Given the description of an element on the screen output the (x, y) to click on. 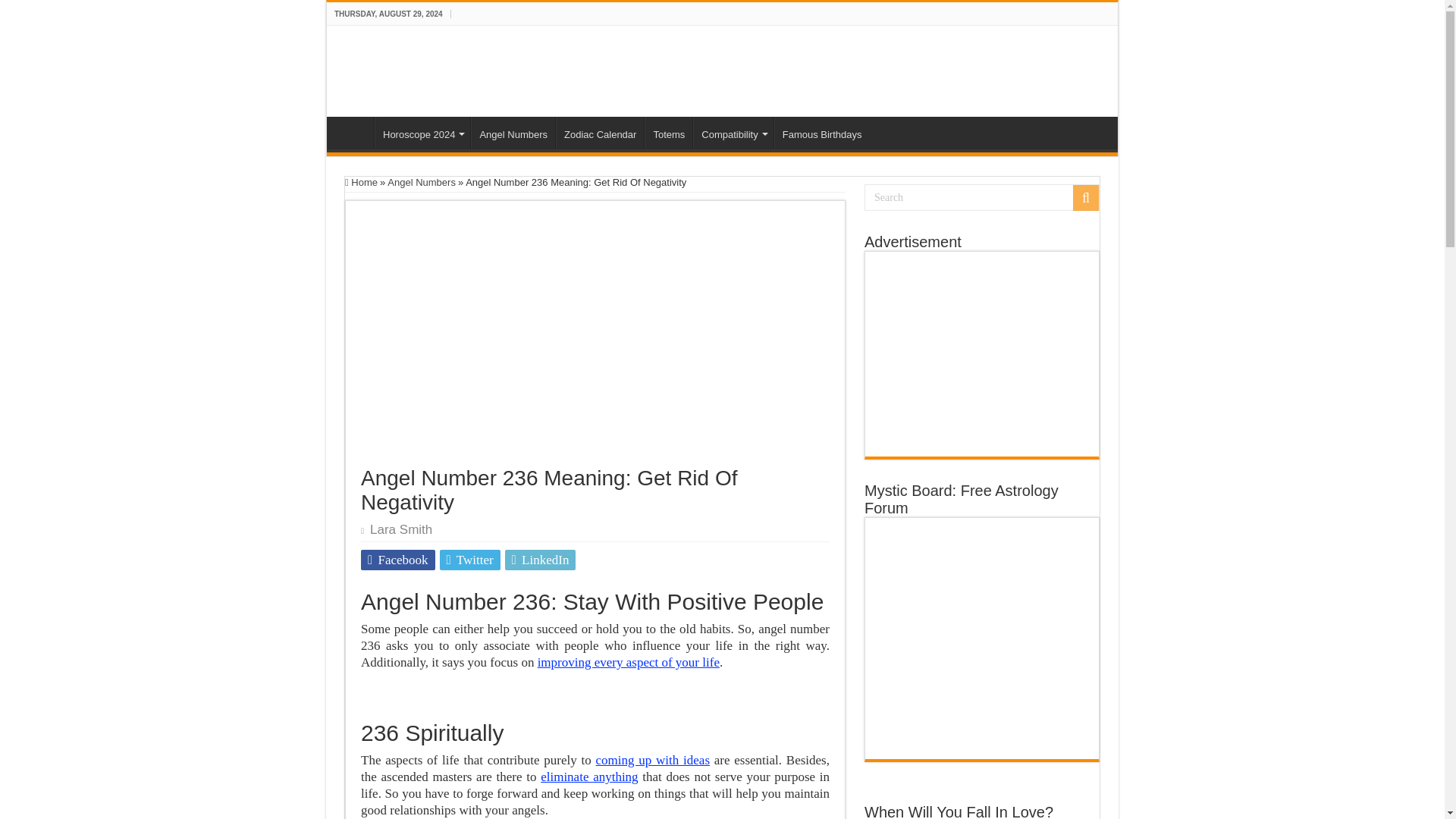
Angel Numbers (512, 132)
Facebook (398, 559)
Sun Signs (405, 67)
improving every aspect of your life (628, 662)
Compatibility (733, 132)
Famous Birthdays (821, 132)
Horoscope 2024 (422, 132)
Lara Smith (400, 529)
eliminate anything (588, 776)
Compatibility (733, 132)
